Given the description of an element on the screen output the (x, y) to click on. 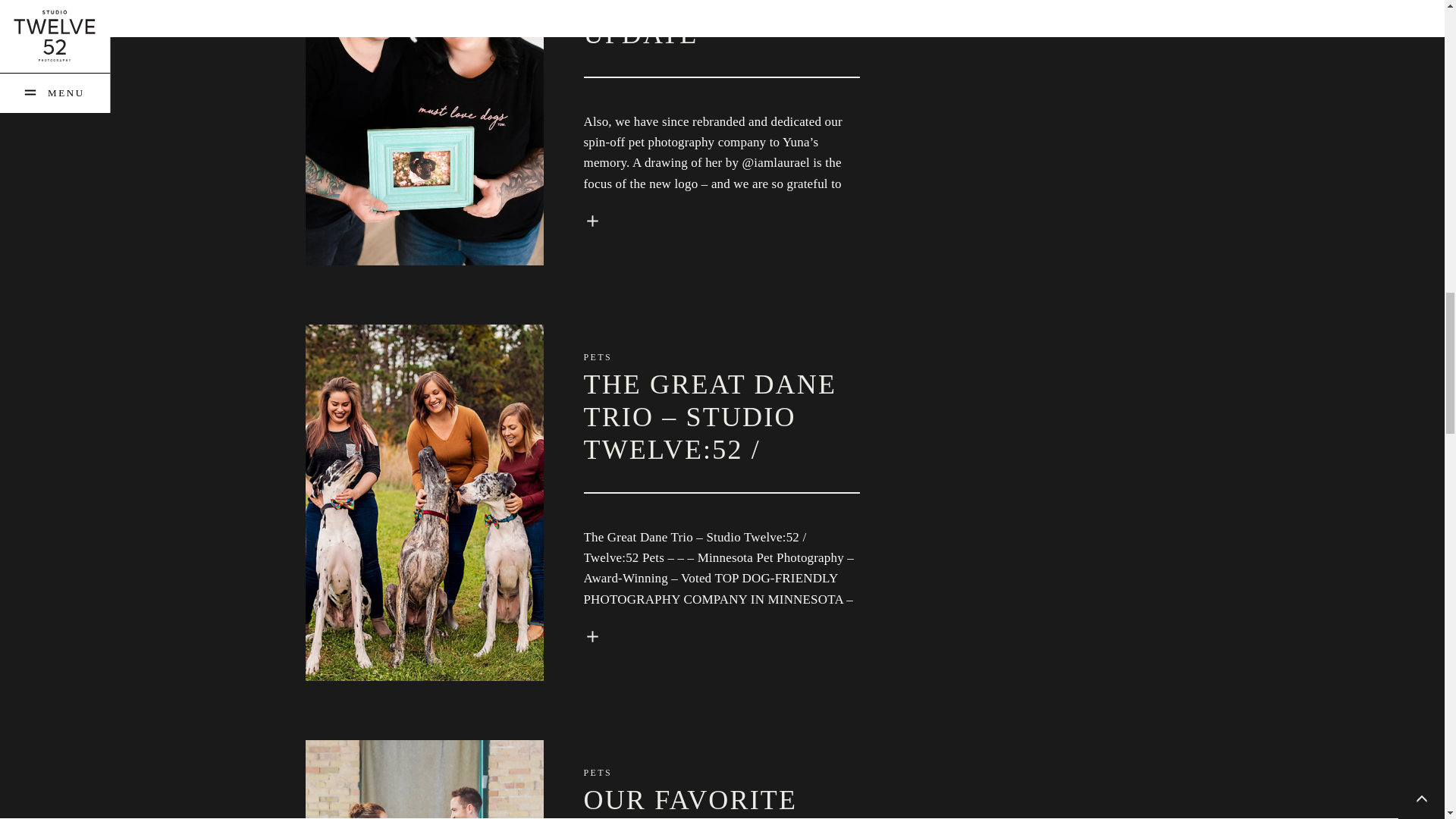
PETS (597, 357)
PETS (597, 772)
